Given the description of an element on the screen output the (x, y) to click on. 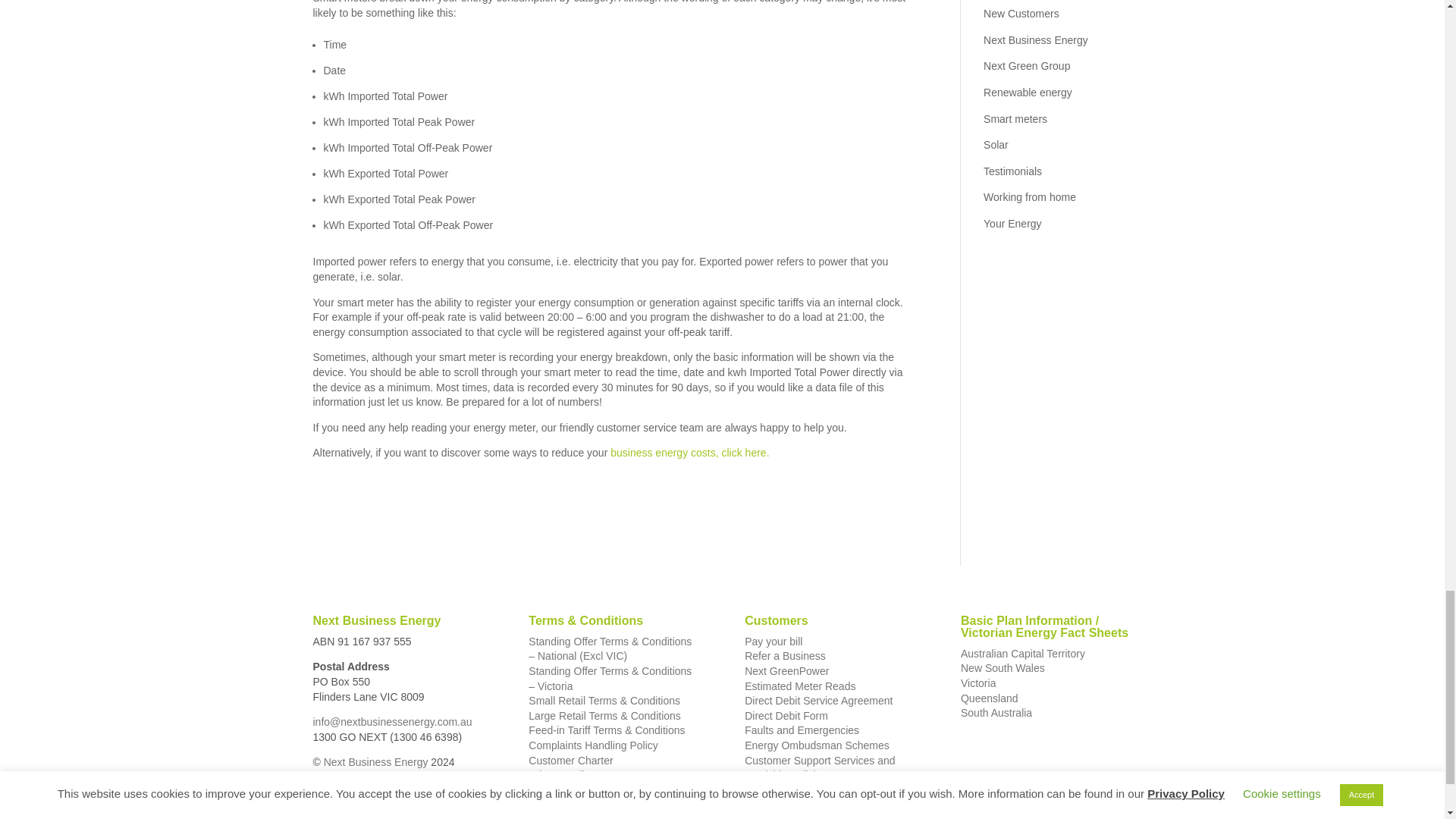
business energy costs, click here. (687, 452)
